Given the description of an element on the screen output the (x, y) to click on. 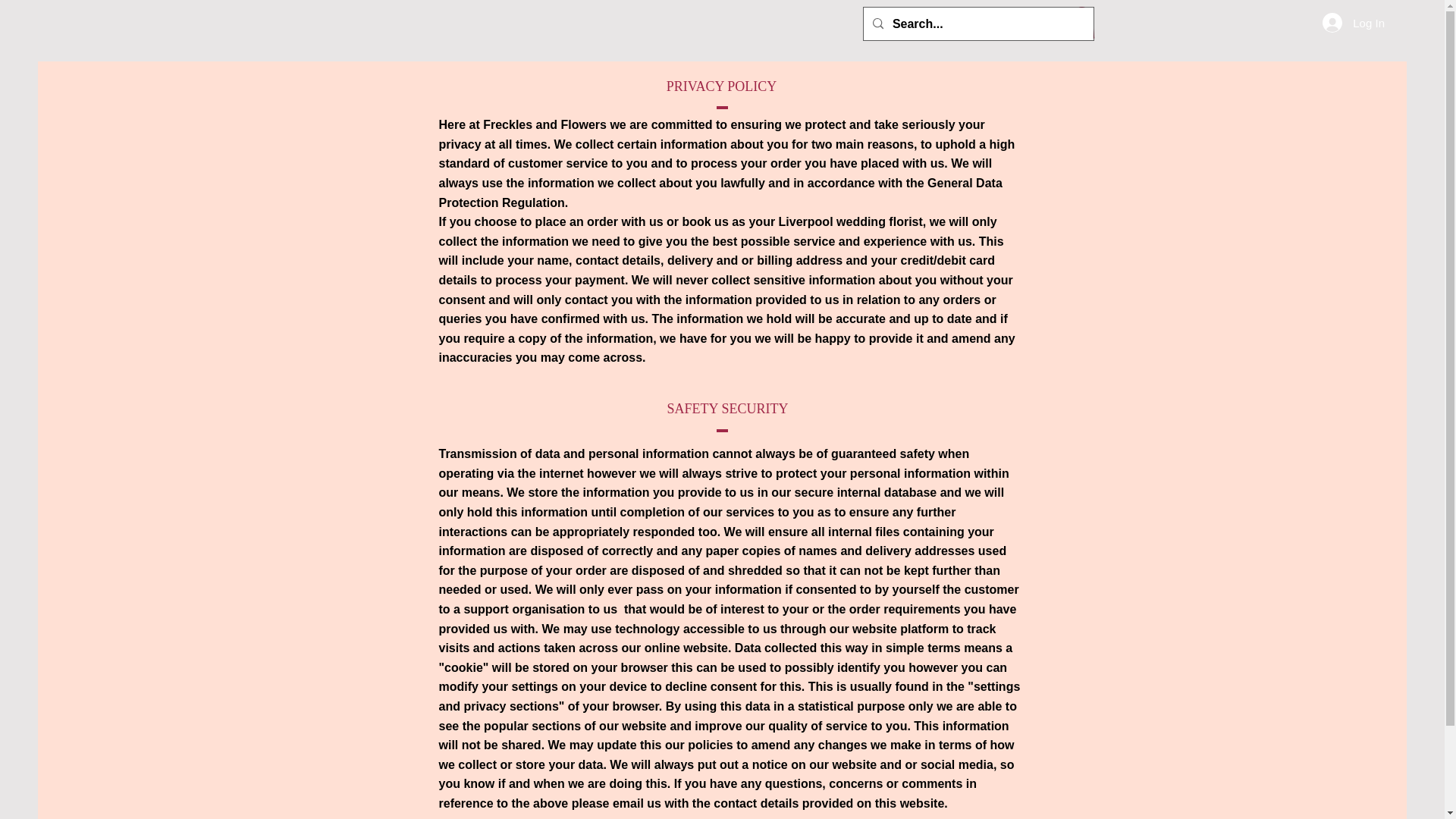
Log In (1352, 22)
